Given the description of an element on the screen output the (x, y) to click on. 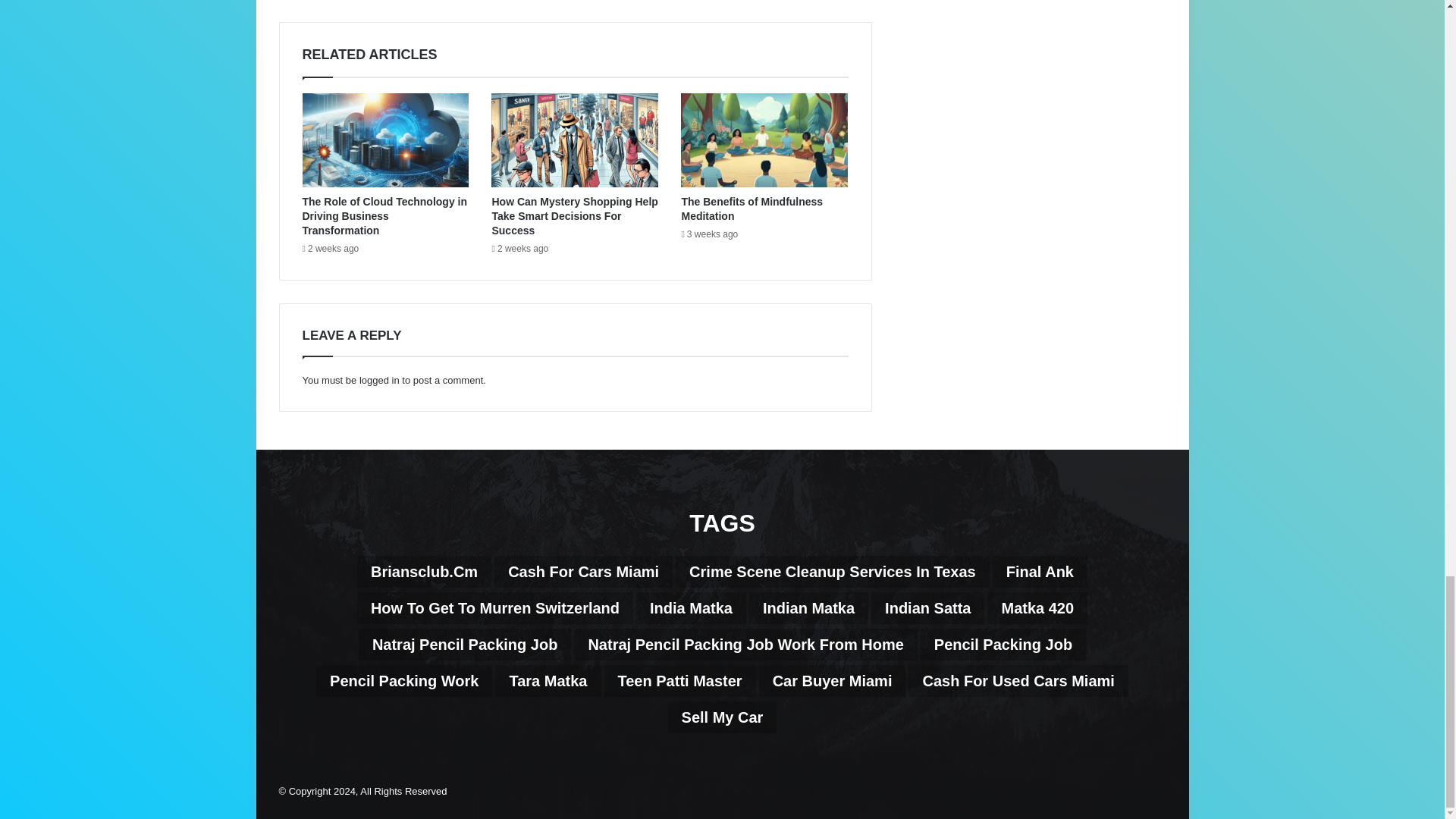
The Benefits of Mindfulness Meditation (751, 208)
